Given the description of an element on the screen output the (x, y) to click on. 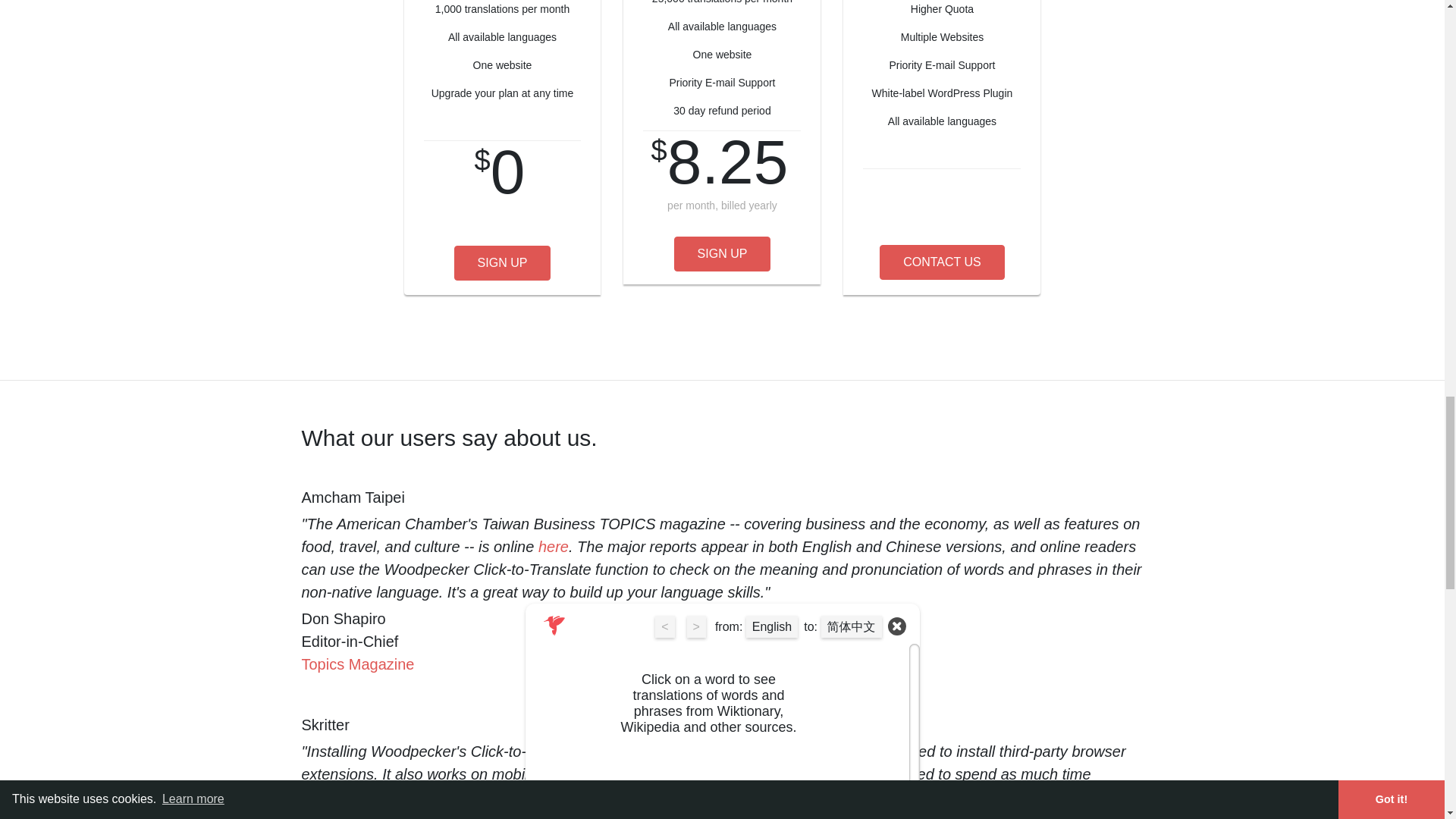
SIGN UP (722, 253)
SIGN UP (502, 262)
CONTACT US (941, 262)
here (553, 546)
Topics Magazine (357, 664)
